Given the description of an element on the screen output the (x, y) to click on. 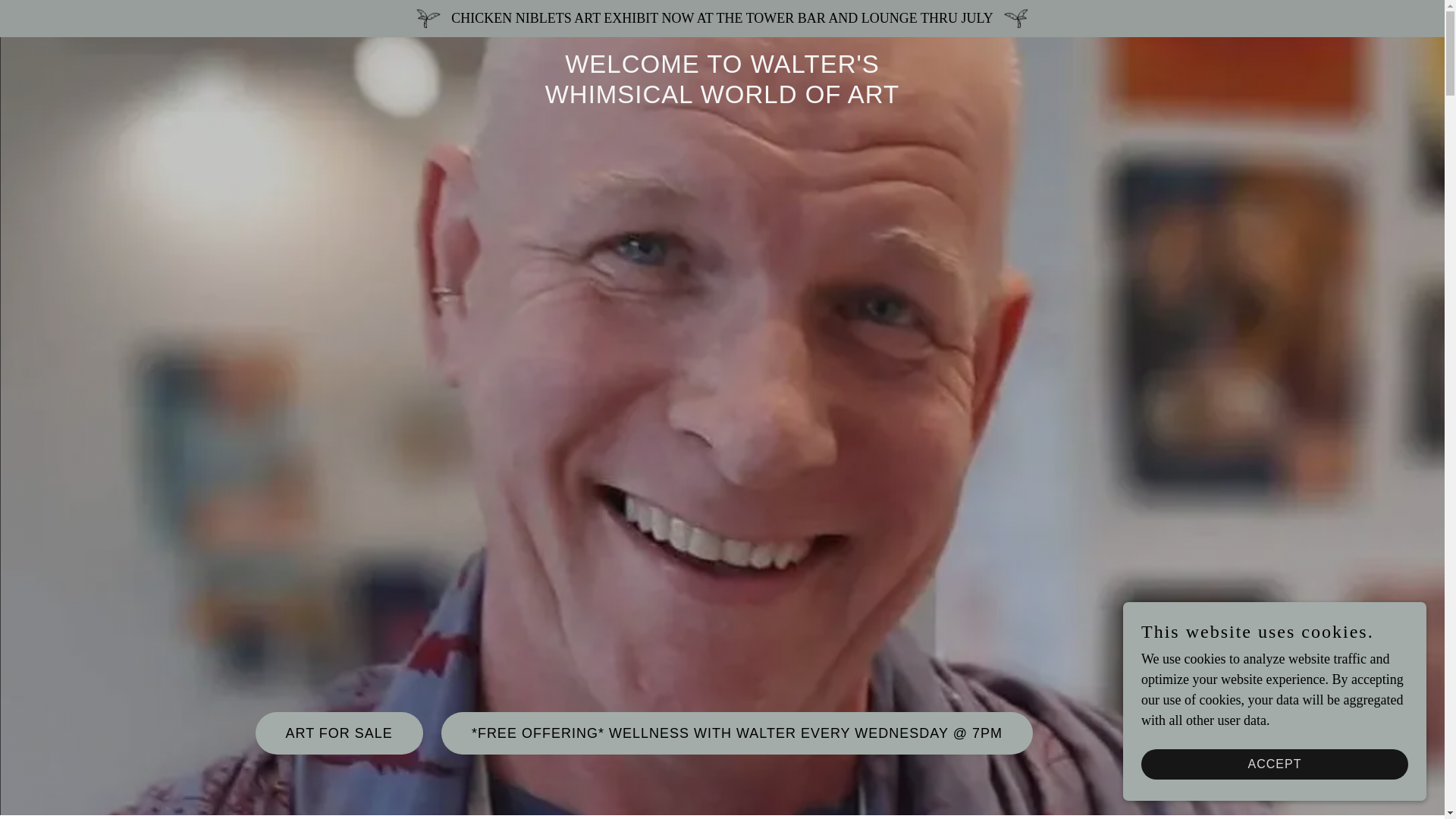
WELCOME TO WALTER'S WHIMSICAL WORLD OF ART (722, 98)
ACCEPT (1274, 764)
ART FOR SALE (338, 732)
WELCOME TO WALTER'S WHIMSICAL WORLD OF ART (722, 98)
